Given the description of an element on the screen output the (x, y) to click on. 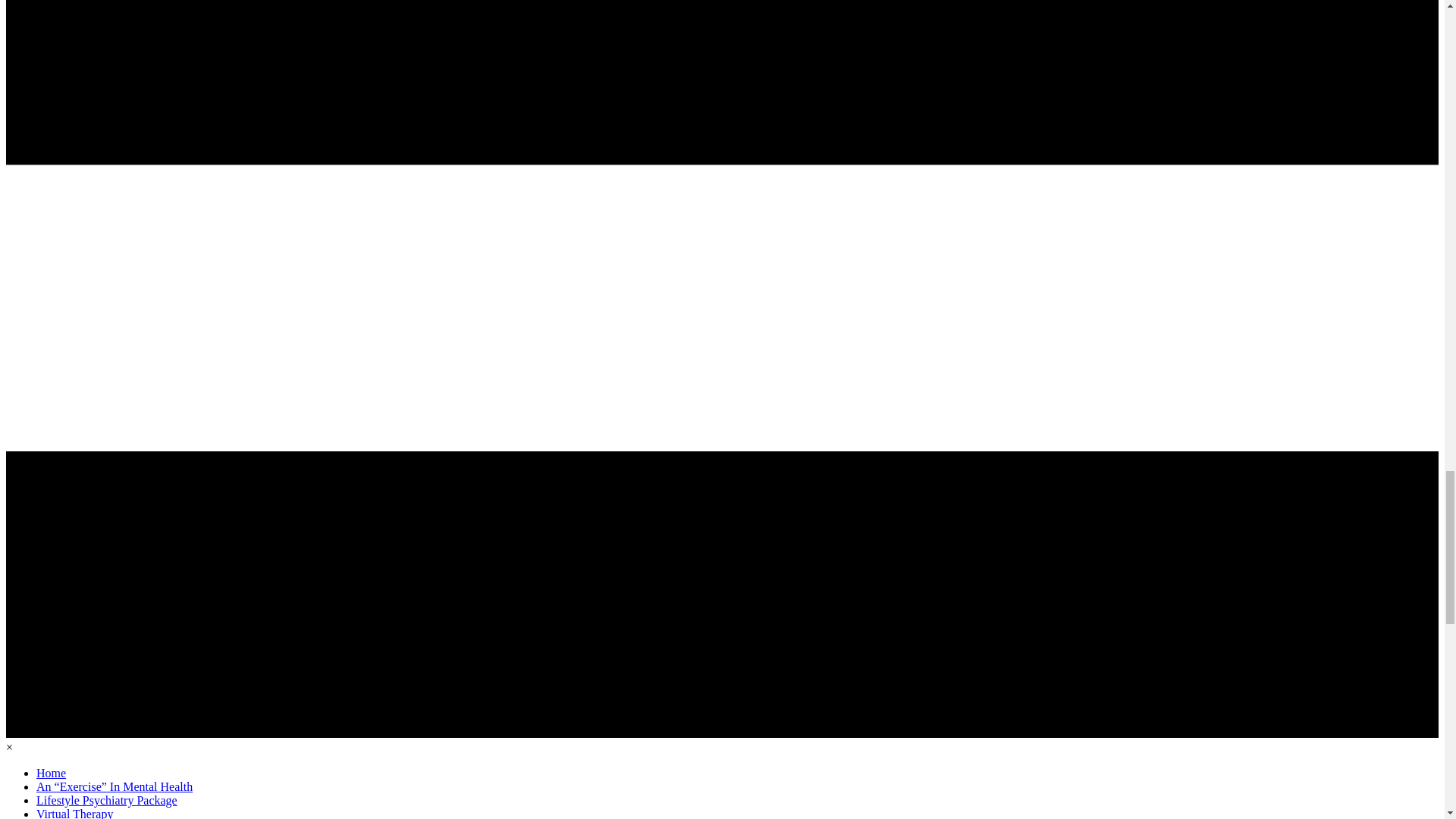
Home (50, 773)
Virtual Therapy (74, 813)
Lifestyle Psychiatry Package (106, 800)
